Given the description of an element on the screen output the (x, y) to click on. 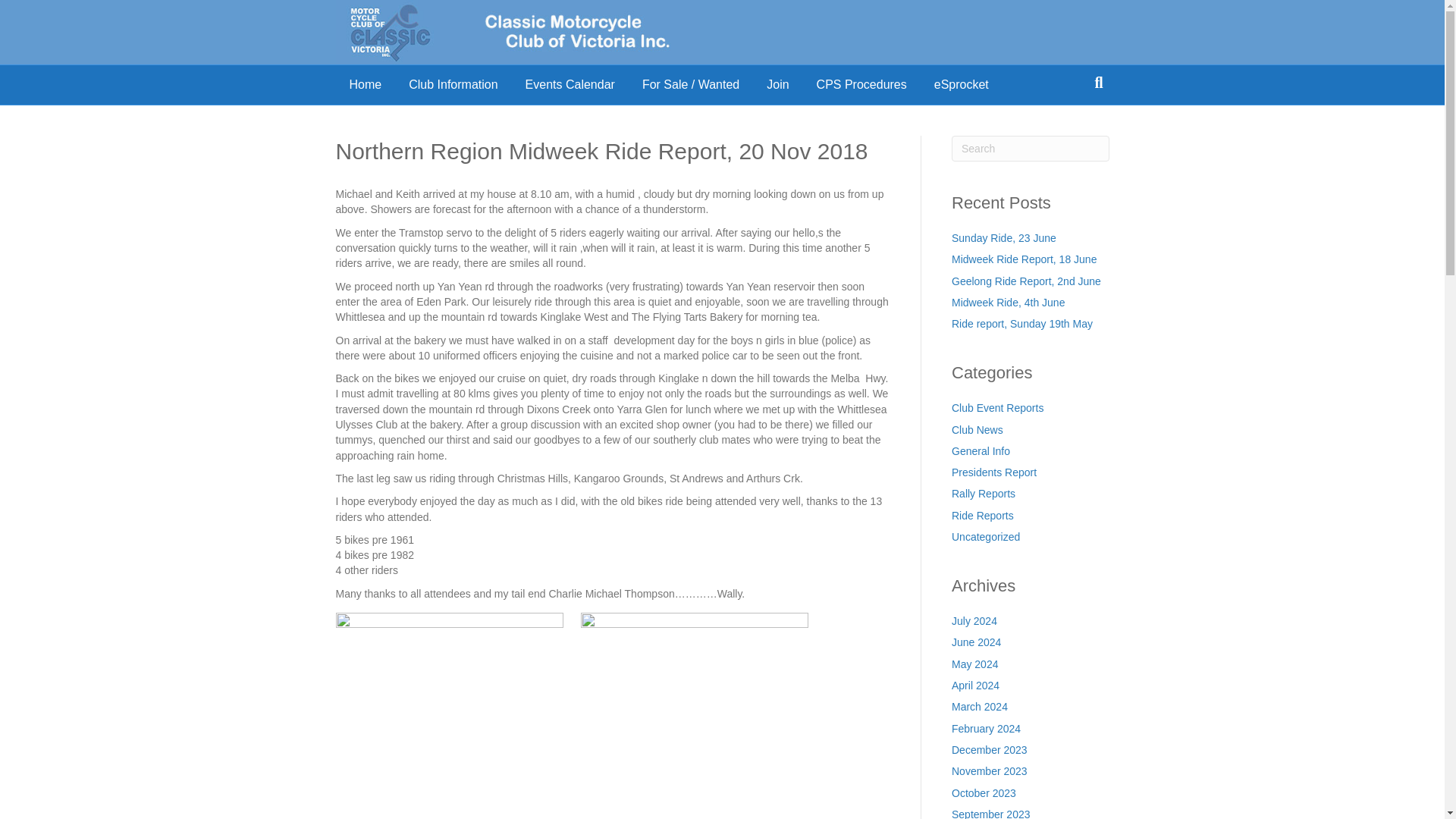
Type and press Enter to search. (1030, 148)
Geelong Ride Report, 2nd June (1026, 281)
Sunday Ride, 23 June (1004, 237)
CPS Procedures (861, 84)
Presidents Report (994, 472)
Midweek Ride Report, 18 June (1024, 259)
General Info (981, 451)
Club Information (452, 84)
Uncategorized (986, 536)
Join (777, 84)
Club Event Reports (997, 408)
eSprocket (961, 84)
Ride Reports (982, 515)
Club News (977, 429)
Home (364, 84)
